Given the description of an element on the screen output the (x, y) to click on. 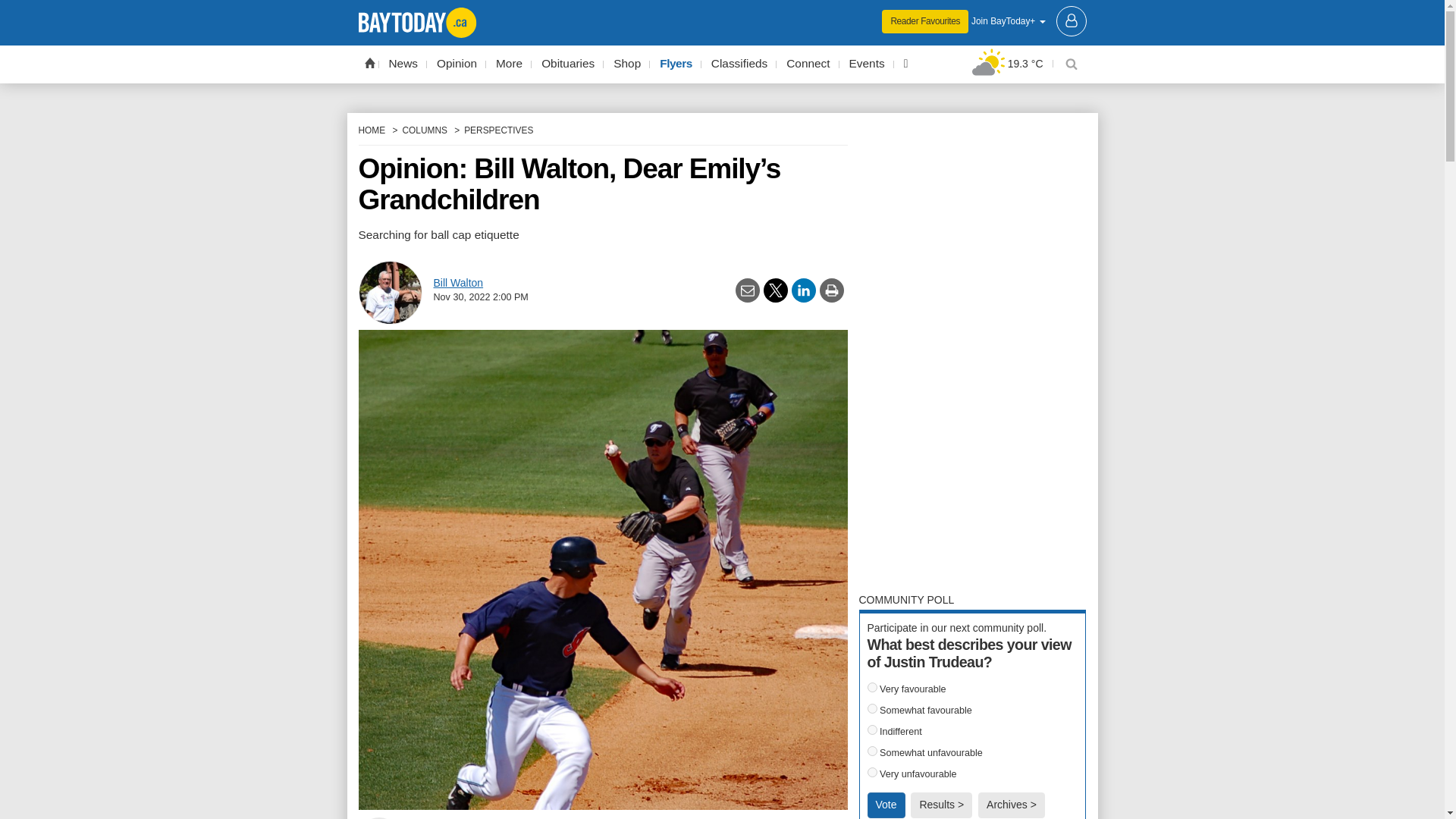
123111 (872, 687)
News (403, 64)
123112 (872, 708)
Reader Favourites (925, 21)
3rd party ad content (722, 10)
123113 (872, 729)
123115 (872, 772)
123114 (872, 750)
Home (368, 62)
